Given the description of an element on the screen output the (x, y) to click on. 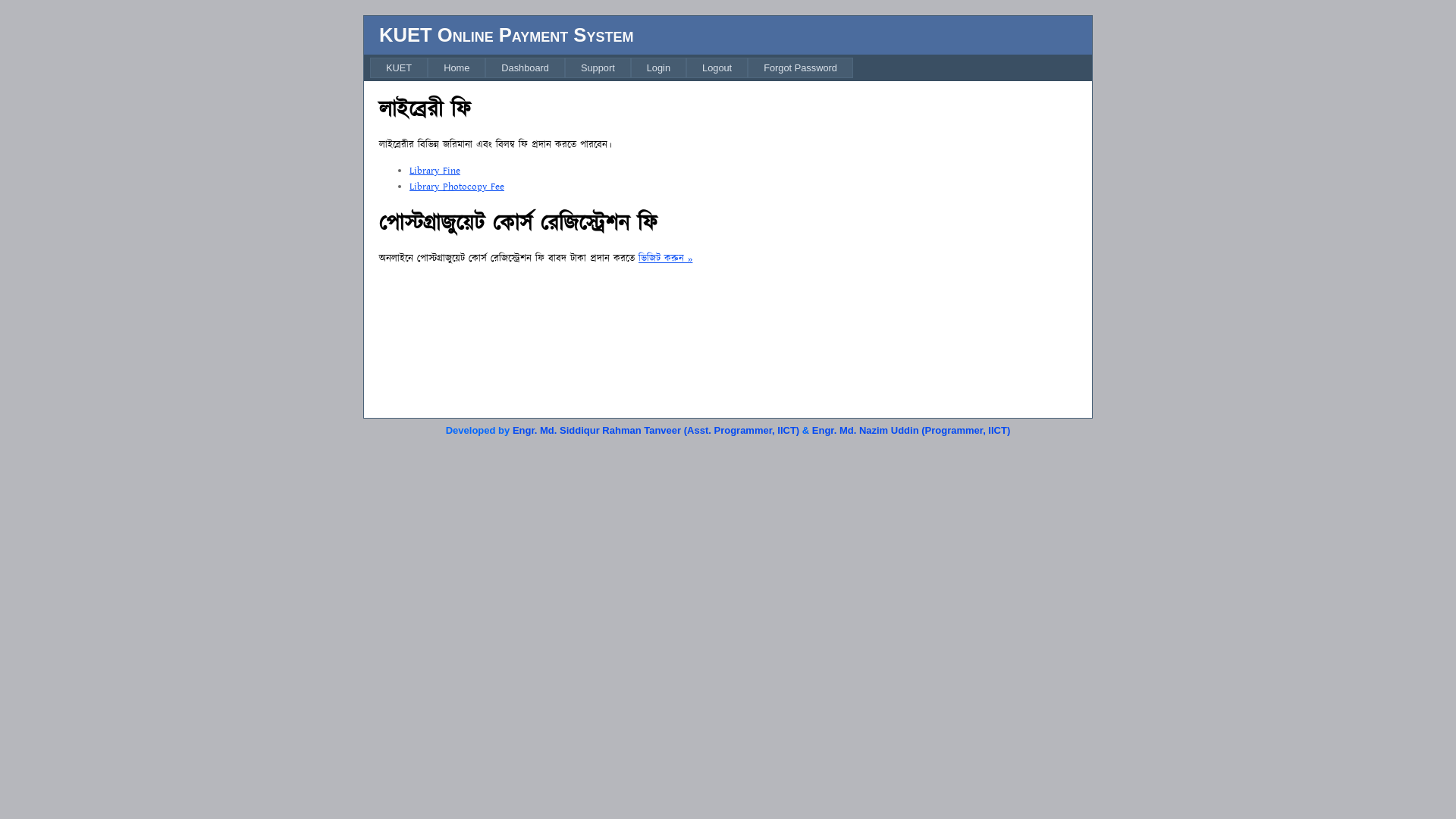
Engr. Md. Nazim Uddin (Programmer, IICT) Element type: text (911, 430)
Home Element type: text (456, 67)
Engr. Md. Siddiqur Rahman Tanveer (Asst. Programmer, IICT) Element type: text (655, 430)
Logout Element type: text (716, 67)
Support Element type: text (597, 67)
Dashboard Element type: text (524, 67)
Library Photocopy Fee Element type: text (456, 186)
Forgot Password Element type: text (800, 67)
Library Fine Element type: text (434, 170)
KUET Element type: text (398, 67)
Login Element type: text (658, 67)
